Given the description of an element on the screen output the (x, y) to click on. 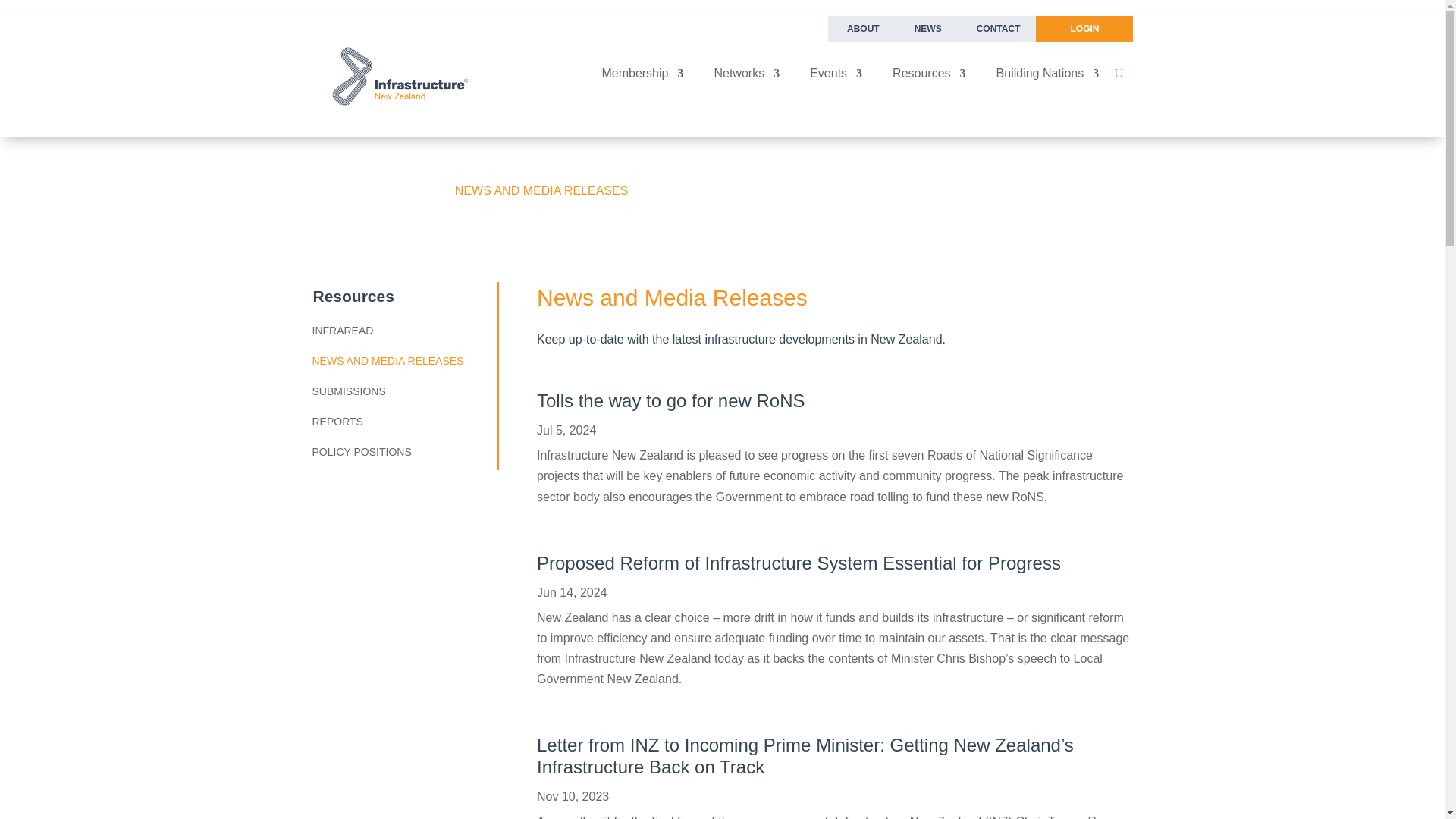
Networks (745, 76)
Infrastructure NZ Logo v2 (398, 76)
Resources (928, 76)
LOGIN (1084, 28)
NEWS (928, 28)
Events (835, 76)
ABOUT (863, 28)
Membership (641, 76)
Building Nations (1047, 76)
CONTACT (998, 28)
